Given the description of an element on the screen output the (x, y) to click on. 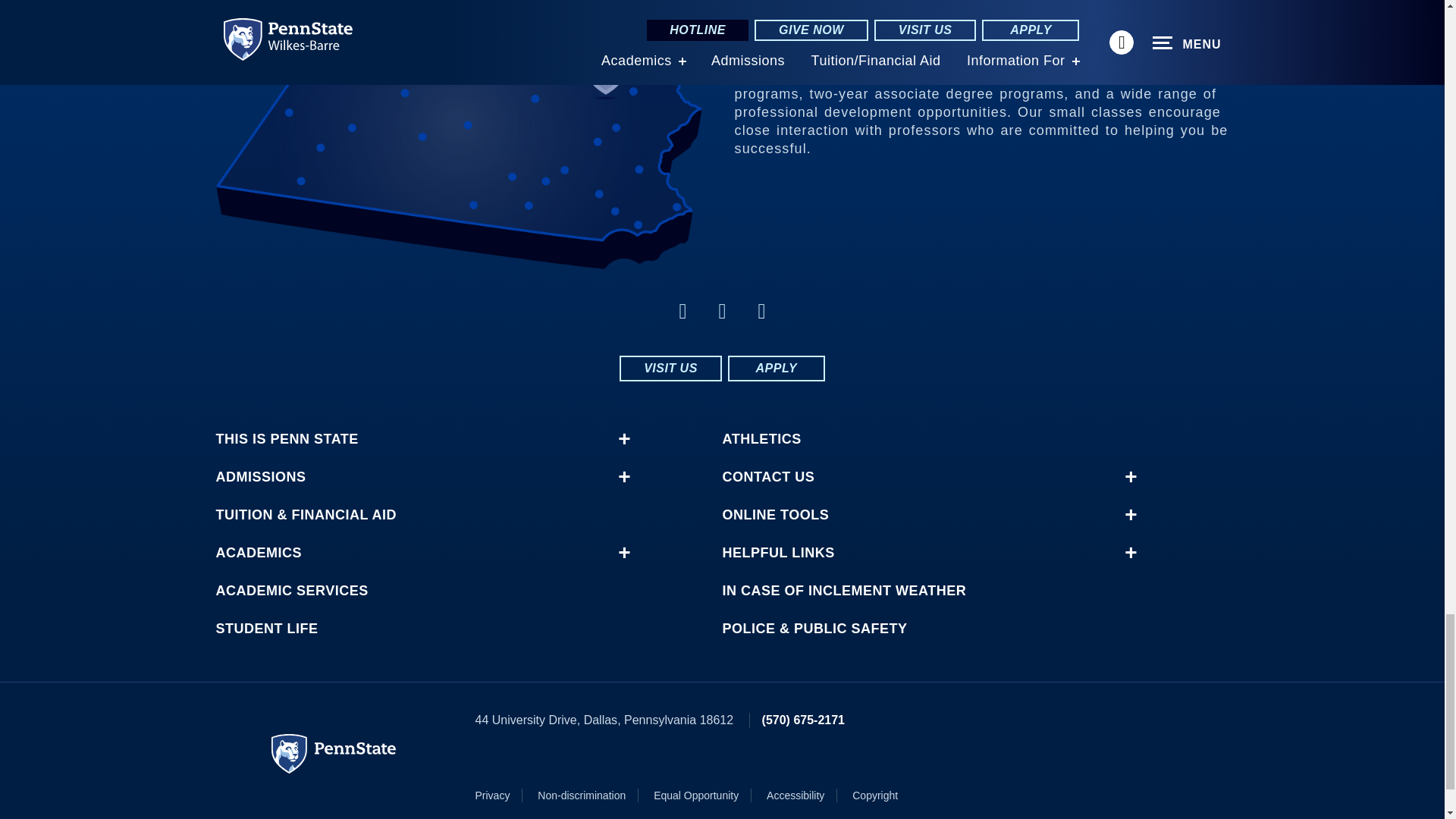
facebook (721, 310)
instagram (682, 310)
youtube (761, 310)
